Given the description of an element on the screen output the (x, y) to click on. 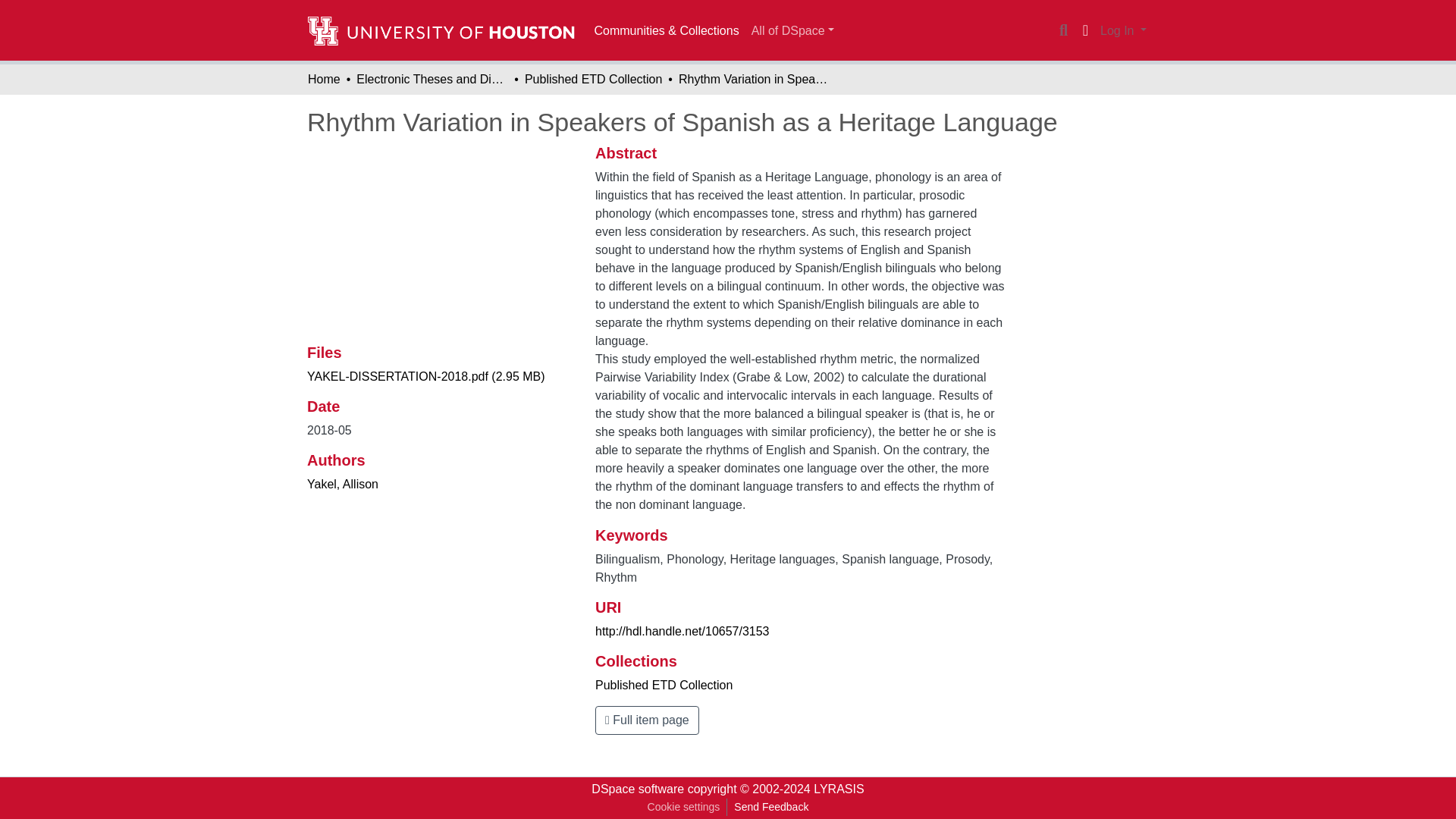
Cookie settings (683, 806)
Log In (1122, 30)
DSpace software (637, 788)
Published ETD Collection (663, 684)
Yakel, Allison (342, 483)
All of DSpace (792, 30)
Send Feedback (770, 806)
Search (1063, 30)
Language switch (1084, 30)
Full item page (646, 719)
Published ETD Collection (593, 79)
LYRASIS (838, 788)
Home (323, 79)
